Given the description of an element on the screen output the (x, y) to click on. 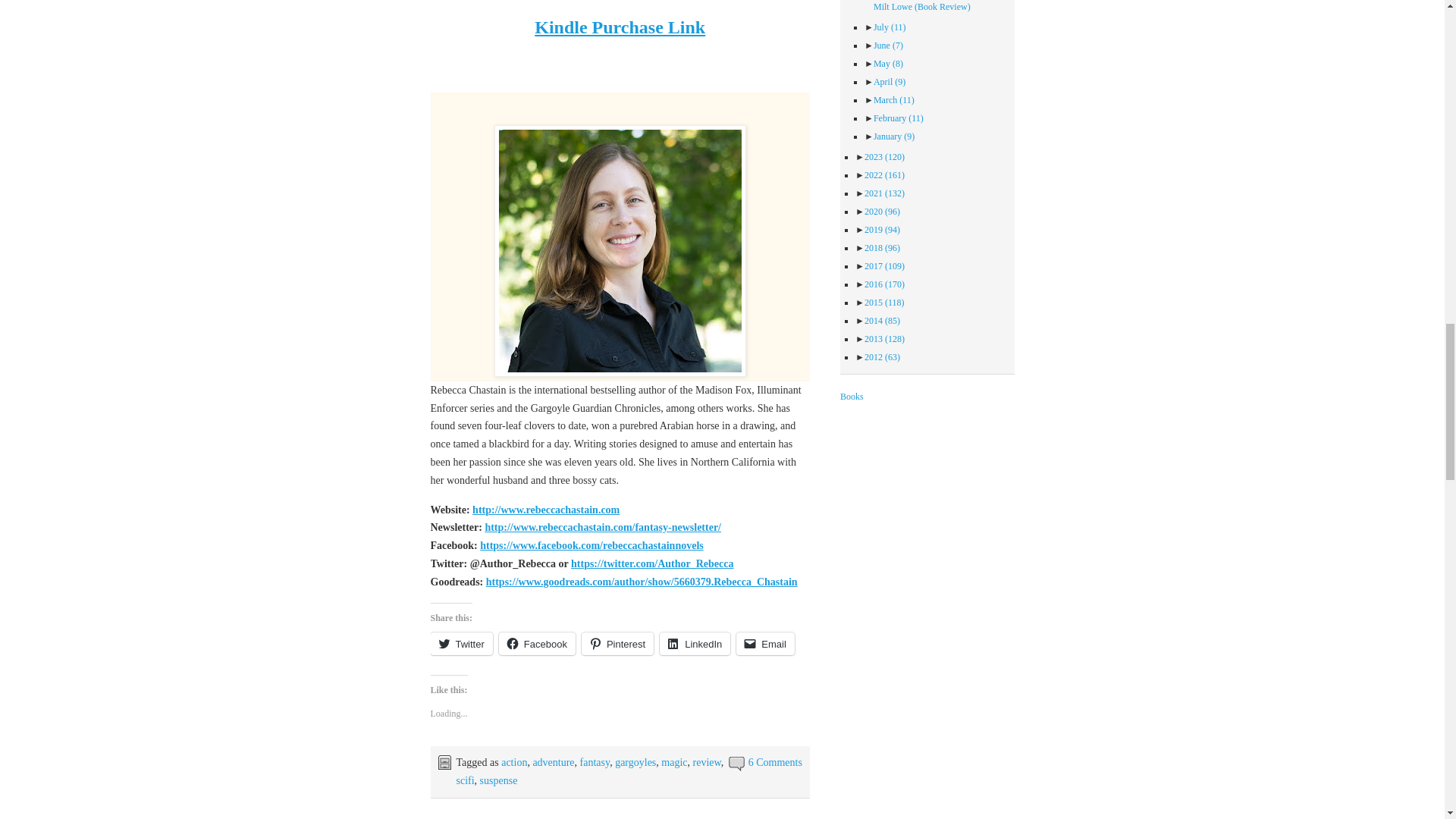
Kindle Purchase Link (619, 26)
fantasy (594, 762)
Click to share on Twitter (461, 643)
6 Comments (775, 762)
Twitter (461, 643)
LinkedIn (694, 643)
magic (674, 762)
review (706, 762)
action (513, 762)
suspense (499, 780)
